Given the description of an element on the screen output the (x, y) to click on. 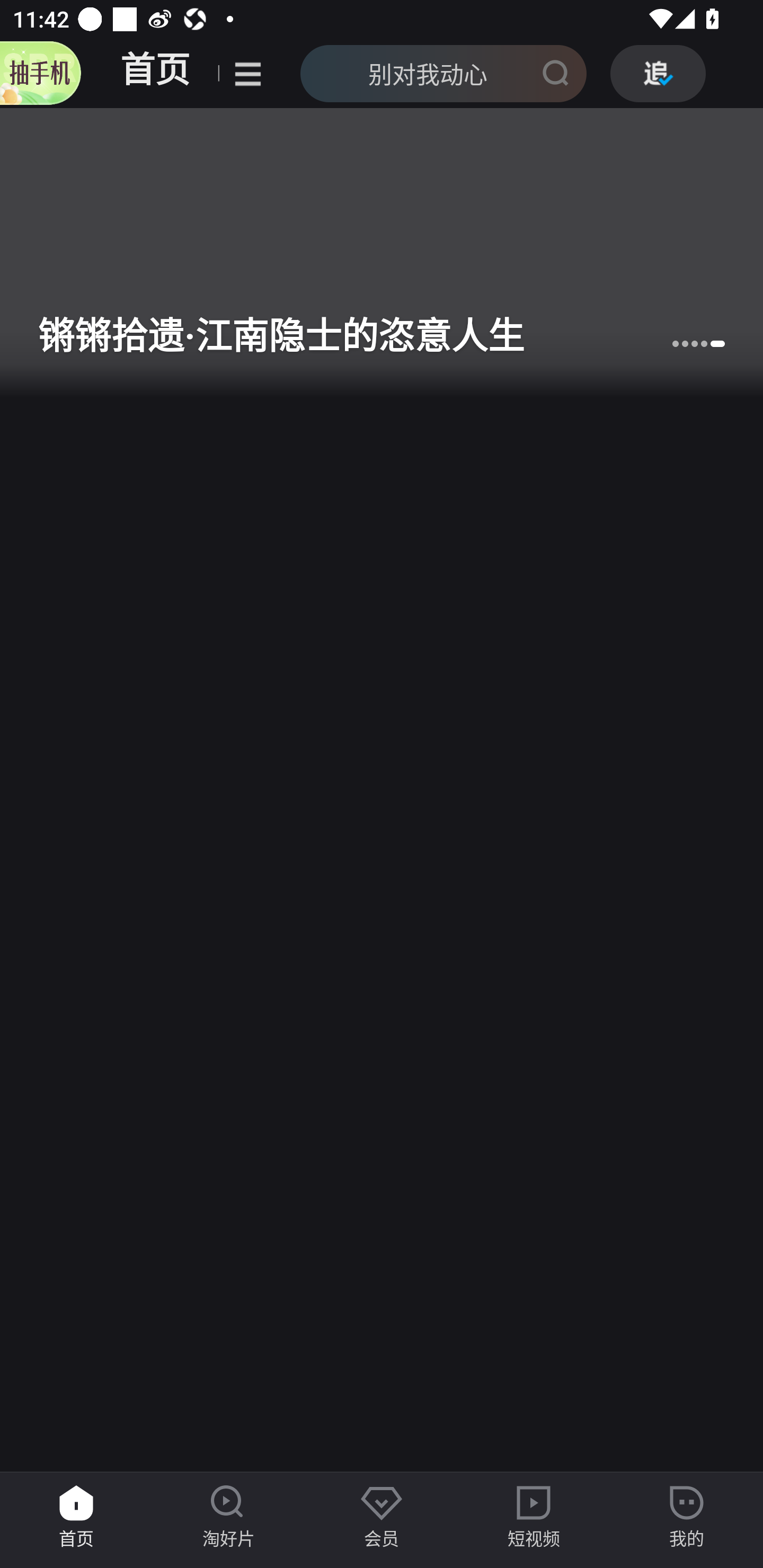
个人中心 (40, 72)
首页 (155, 72)
搜索框，别对我动心 别对我动心 (427, 73)
追剧 (657, 73)
频道管理入口 (247, 73)
锵锵拾遗·江南隐士的恣意人生 (381, 253)
首页 (76, 1516)
淘好片 (228, 1516)
会员 (381, 1516)
短视频 (533, 1516)
我的 (686, 1516)
